Given the description of an element on the screen output the (x, y) to click on. 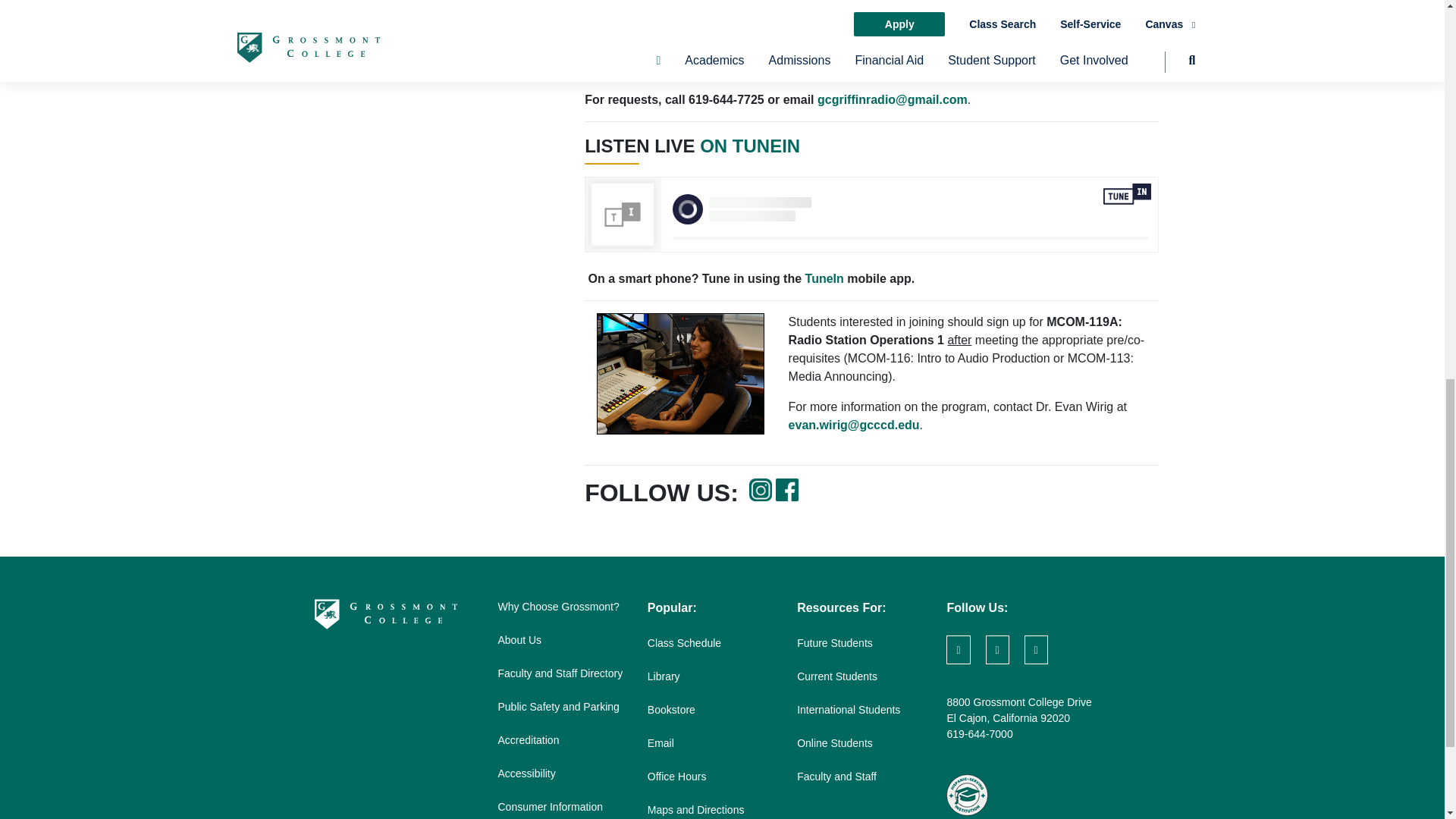
TuneIn (824, 279)
Media Communications Department (708, 69)
Why Choose Grossmont? (557, 606)
ON TUNEIN (749, 146)
